Given the description of an element on the screen output the (x, y) to click on. 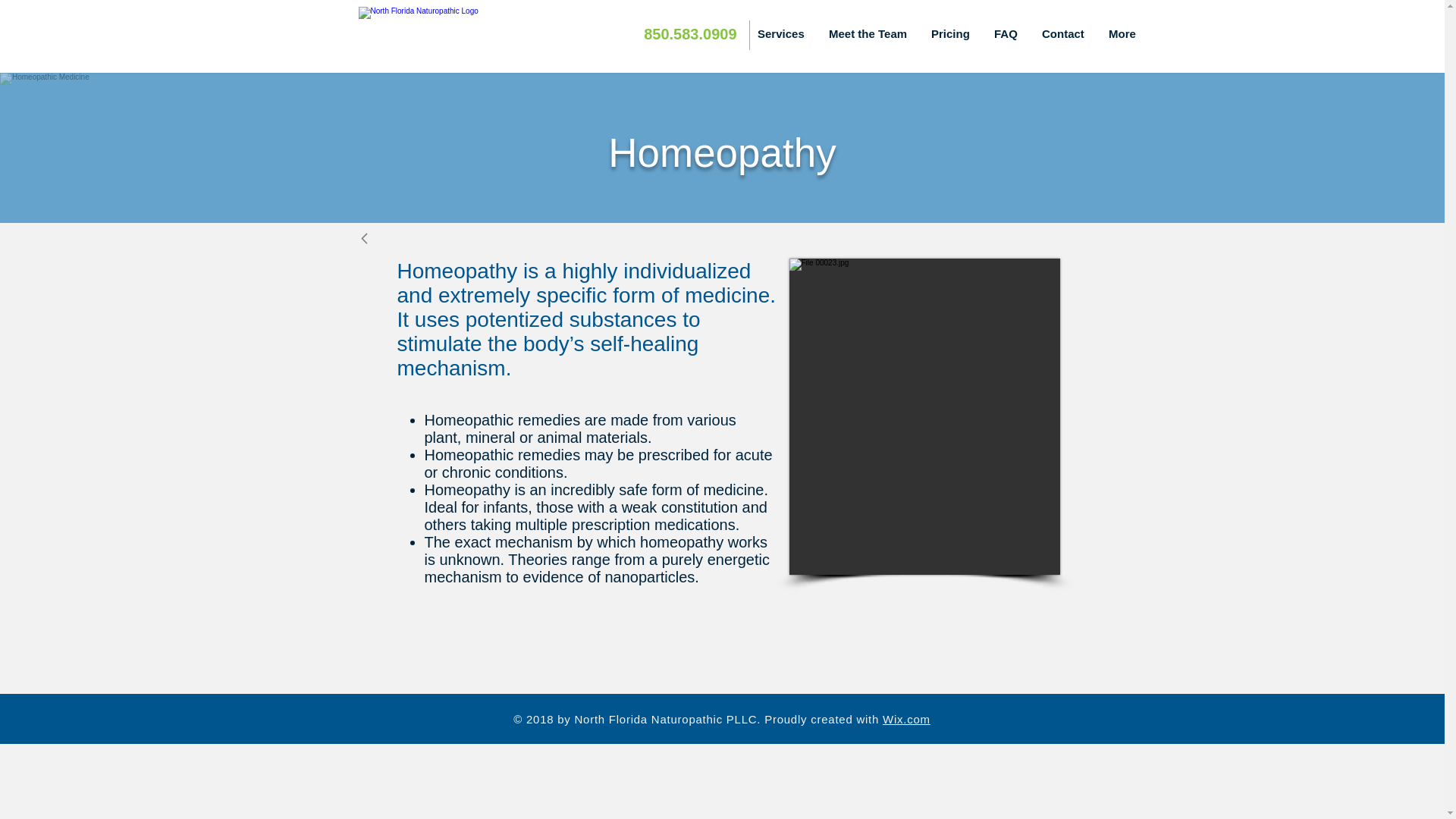
Contact (1063, 34)
Meet the Team (868, 34)
Pricing (951, 34)
Wix.com (906, 718)
Services (780, 34)
Back (380, 237)
Click here to go home (456, 34)
FAQ (1006, 34)
